Given the description of an element on the screen output the (x, y) to click on. 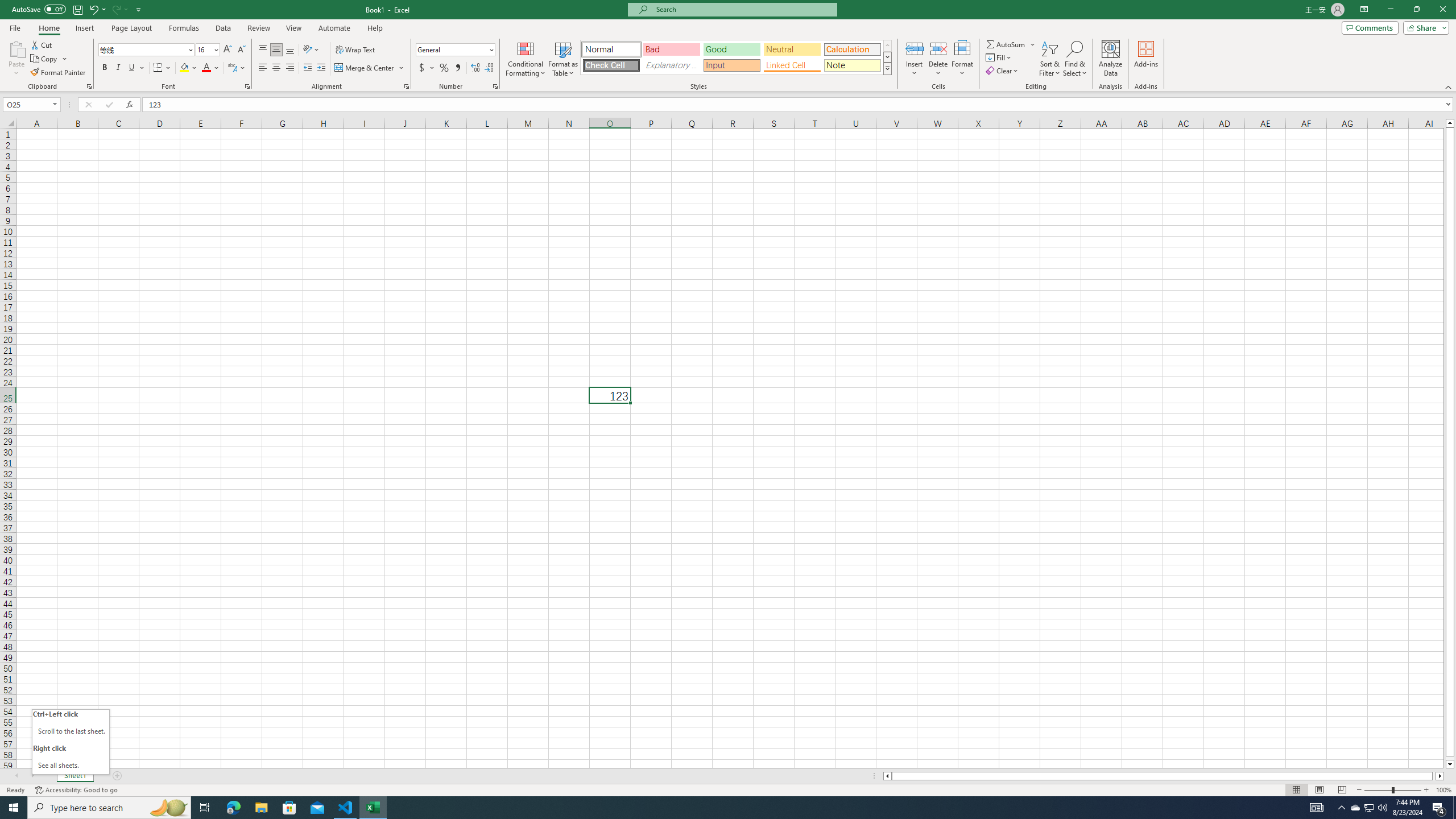
Copy (49, 58)
Show Phonetic Field (236, 67)
Increase Font Size (227, 49)
Font (147, 49)
Font Color (210, 67)
Format (962, 58)
Fill Color (188, 67)
